Given the description of an element on the screen output the (x, y) to click on. 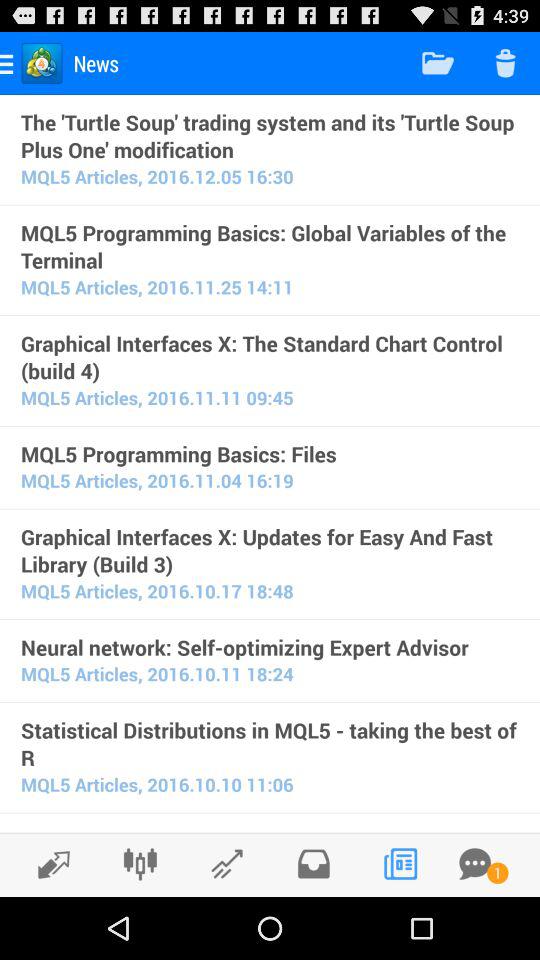
go to chat option (475, 864)
